Given the description of an element on the screen output the (x, y) to click on. 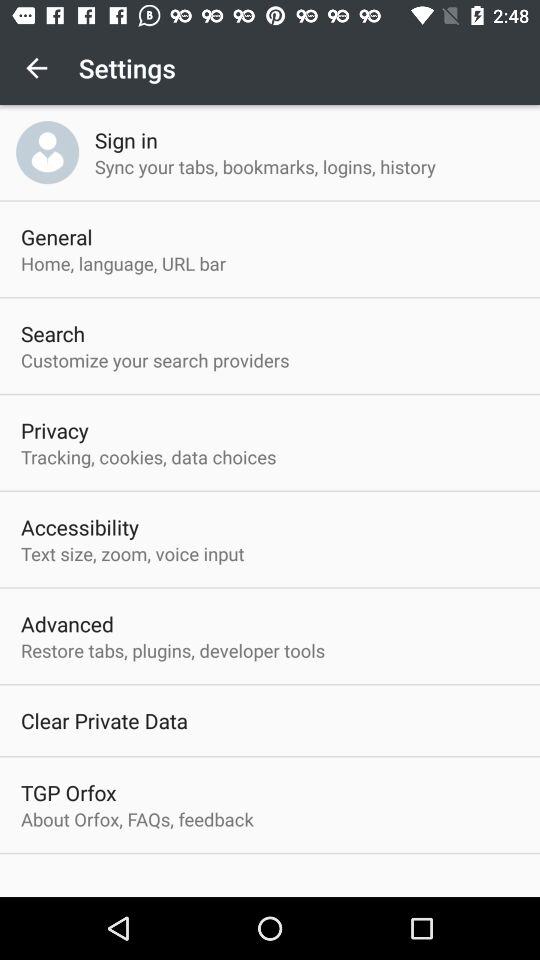
flip to clear private data app (104, 720)
